Given the description of an element on the screen output the (x, y) to click on. 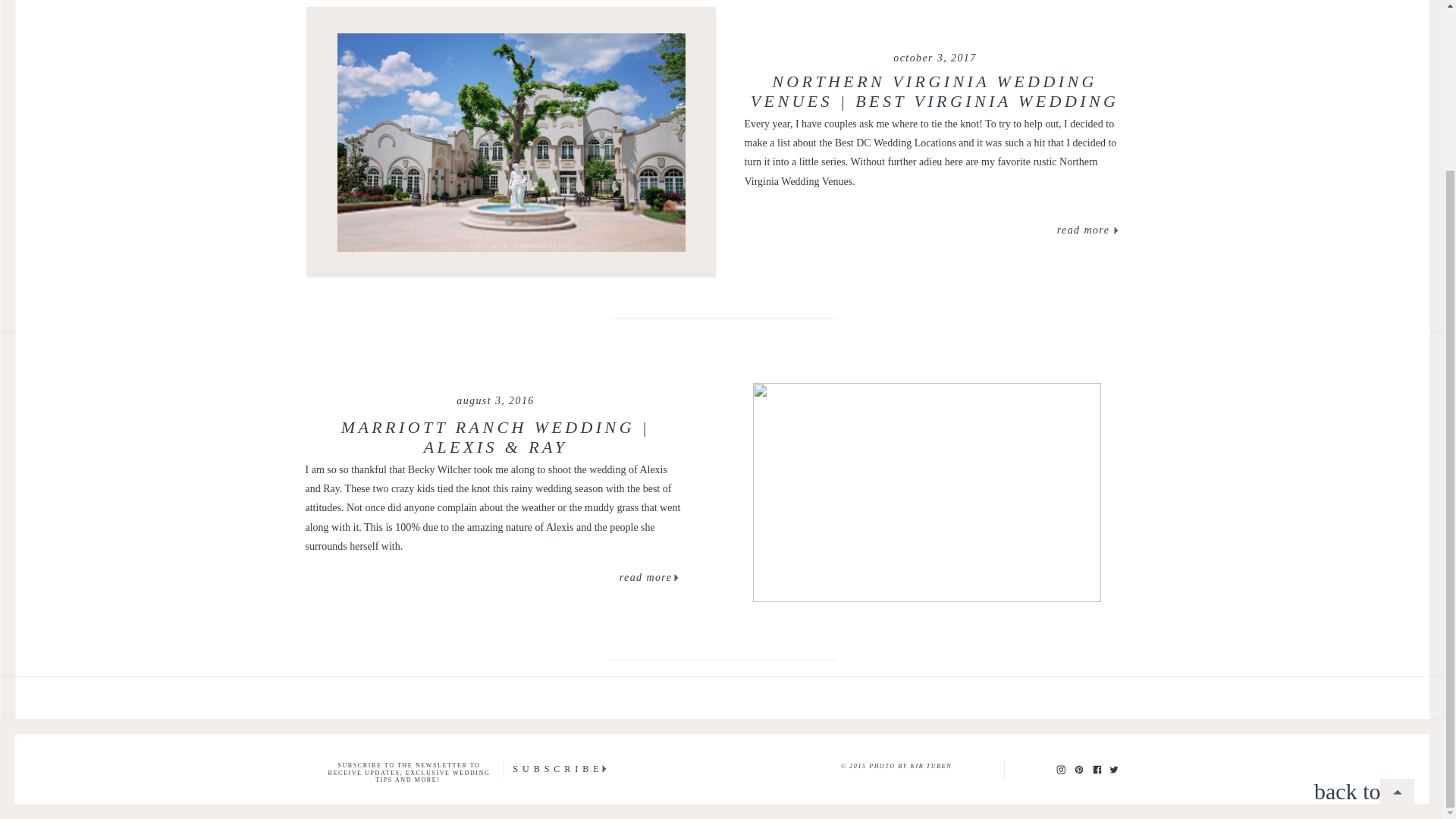
read more (646, 578)
Facebook Copy-color Created with Sketch. (1096, 768)
Instagram-color Created with Sketch. (1059, 768)
Best DC Wedding Locations (895, 142)
SUBSCRIBE (558, 768)
read more (1083, 231)
Facebook Copy-color Created with Sketch. (1096, 768)
Instagram-color Created with Sketch. (1059, 768)
